Given the description of an element on the screen output the (x, y) to click on. 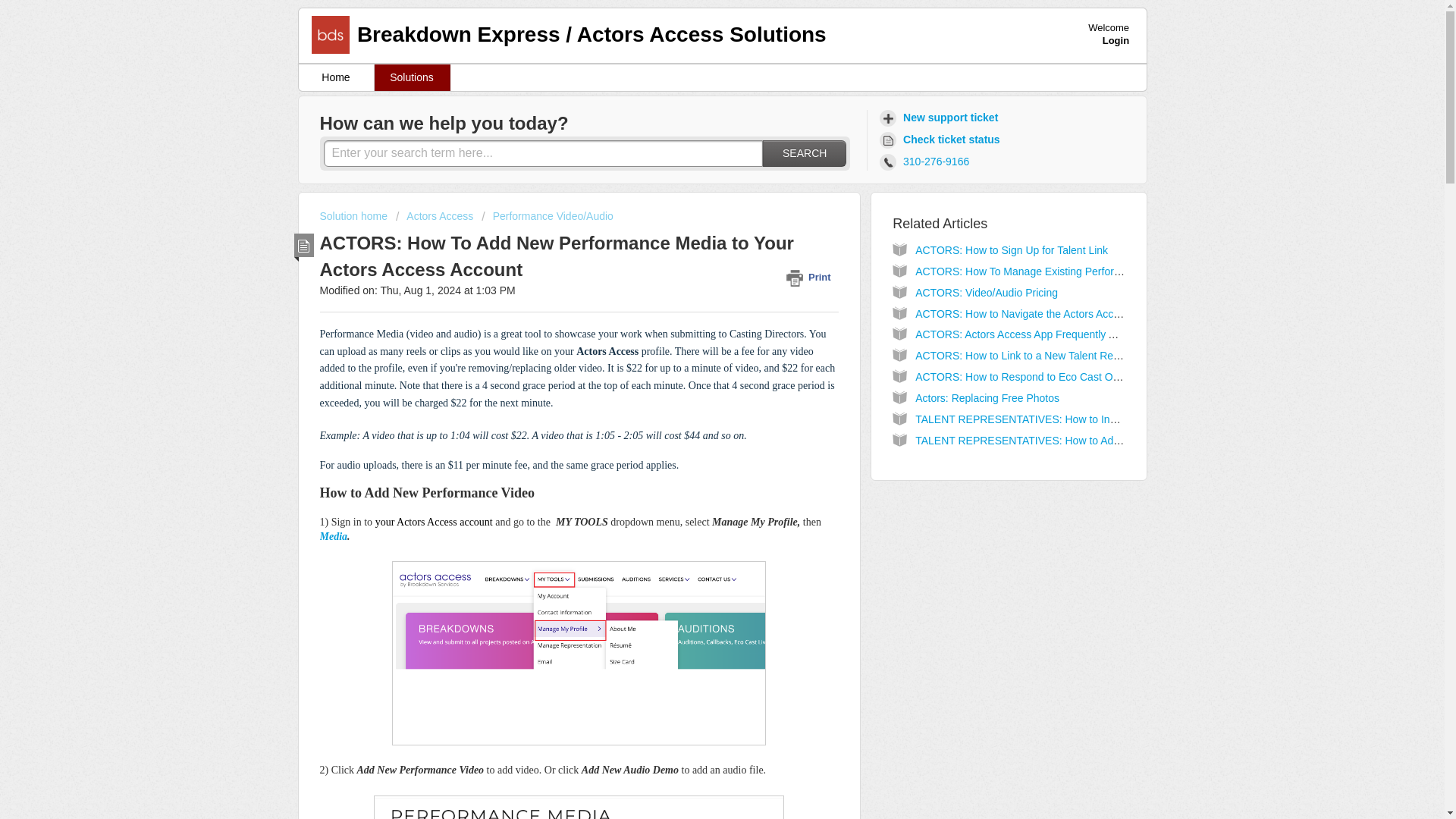
Print (812, 276)
Actors Access (434, 215)
Check ticket status (941, 139)
SEARCH (803, 153)
Solution home (355, 215)
ACTORS: How to Navigate the Actors Access App for iOS (1050, 313)
New support ticket (940, 117)
Print this Article (812, 276)
ACTORS: How to Respond to Eco Cast OPEN CALL (1039, 377)
ACTORS: How to Sign Up for Talent Link (1011, 250)
